Given the description of an element on the screen output the (x, y) to click on. 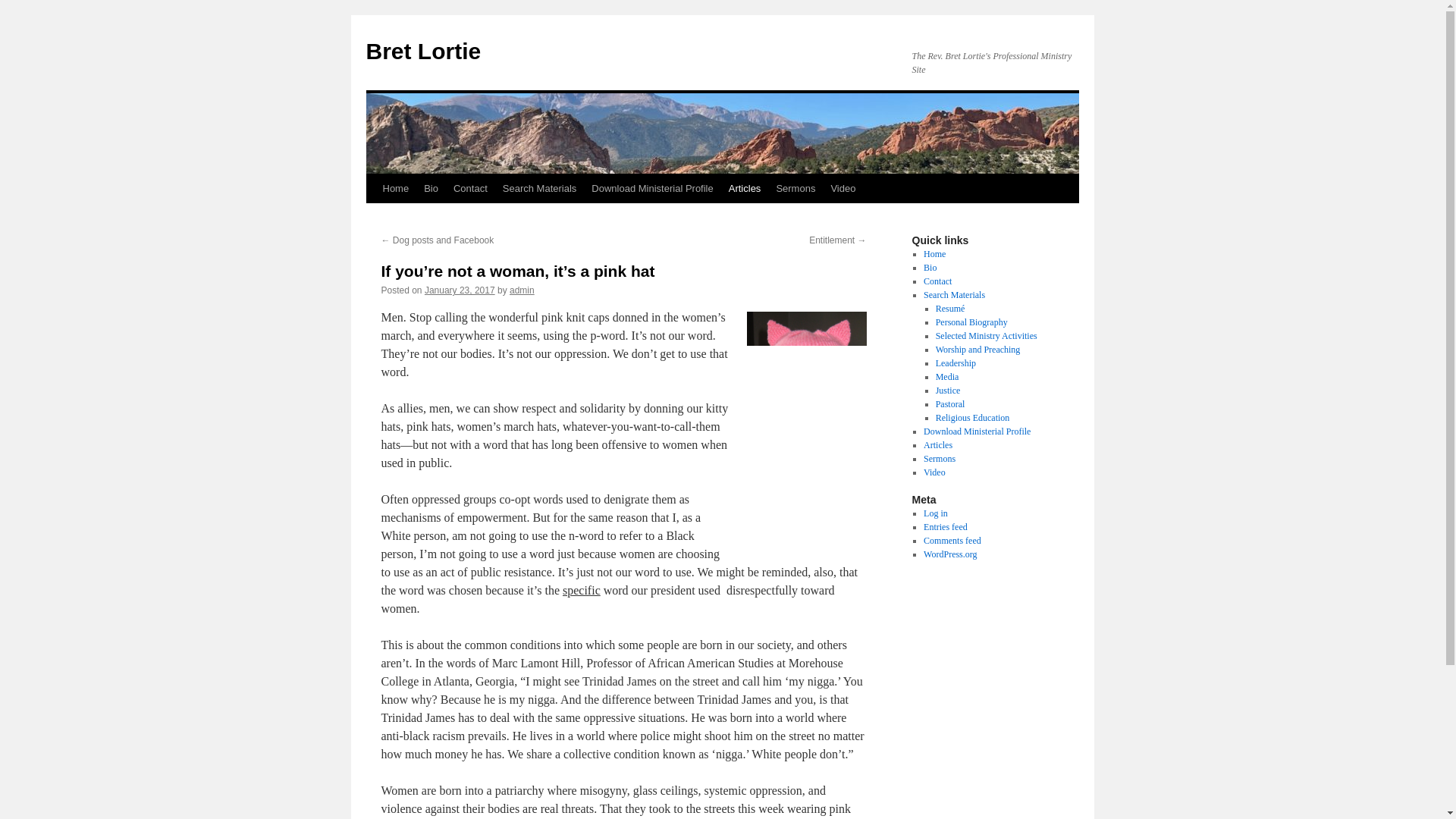
Selected Ministry Activities (986, 335)
Media (947, 376)
Download Ministerial Profile (651, 188)
Bret Lortie (422, 50)
Bio (929, 267)
Justice (948, 389)
Home (933, 253)
Video (842, 188)
Personal Biography (971, 321)
View all posts by admin (521, 290)
Leadership (955, 362)
Search Materials (540, 188)
Search Materials (954, 294)
Articles (744, 188)
Worship and Preaching (978, 348)
